Given the description of an element on the screen output the (x, y) to click on. 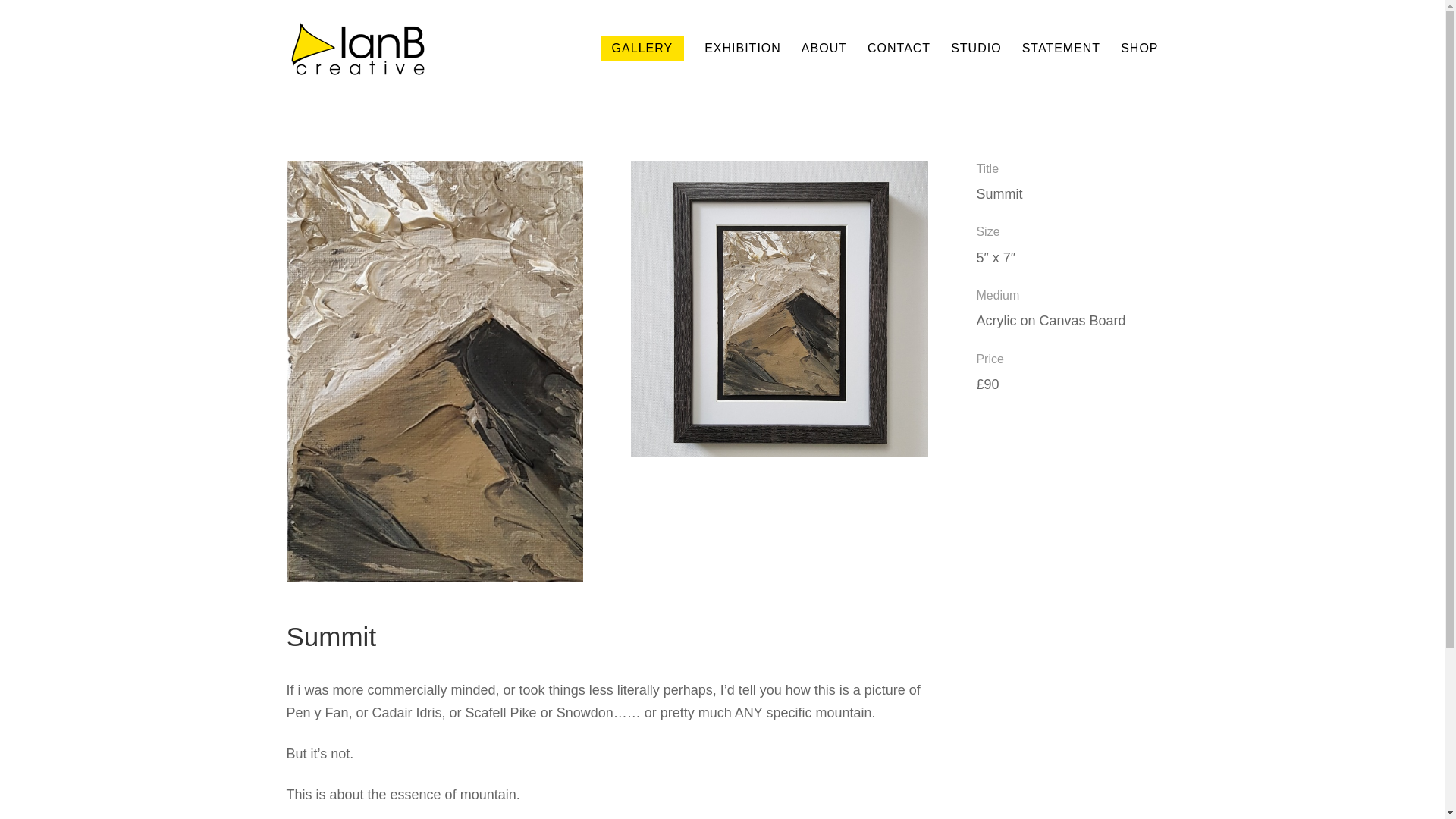
STATEMENT (1061, 68)
CONTACT (898, 68)
EXHIBITION (742, 68)
STUDIO (975, 68)
GALLERY (641, 48)
Summit - framed (779, 457)
Summit (434, 581)
ABOUT (824, 68)
